Given the description of an element on the screen output the (x, y) to click on. 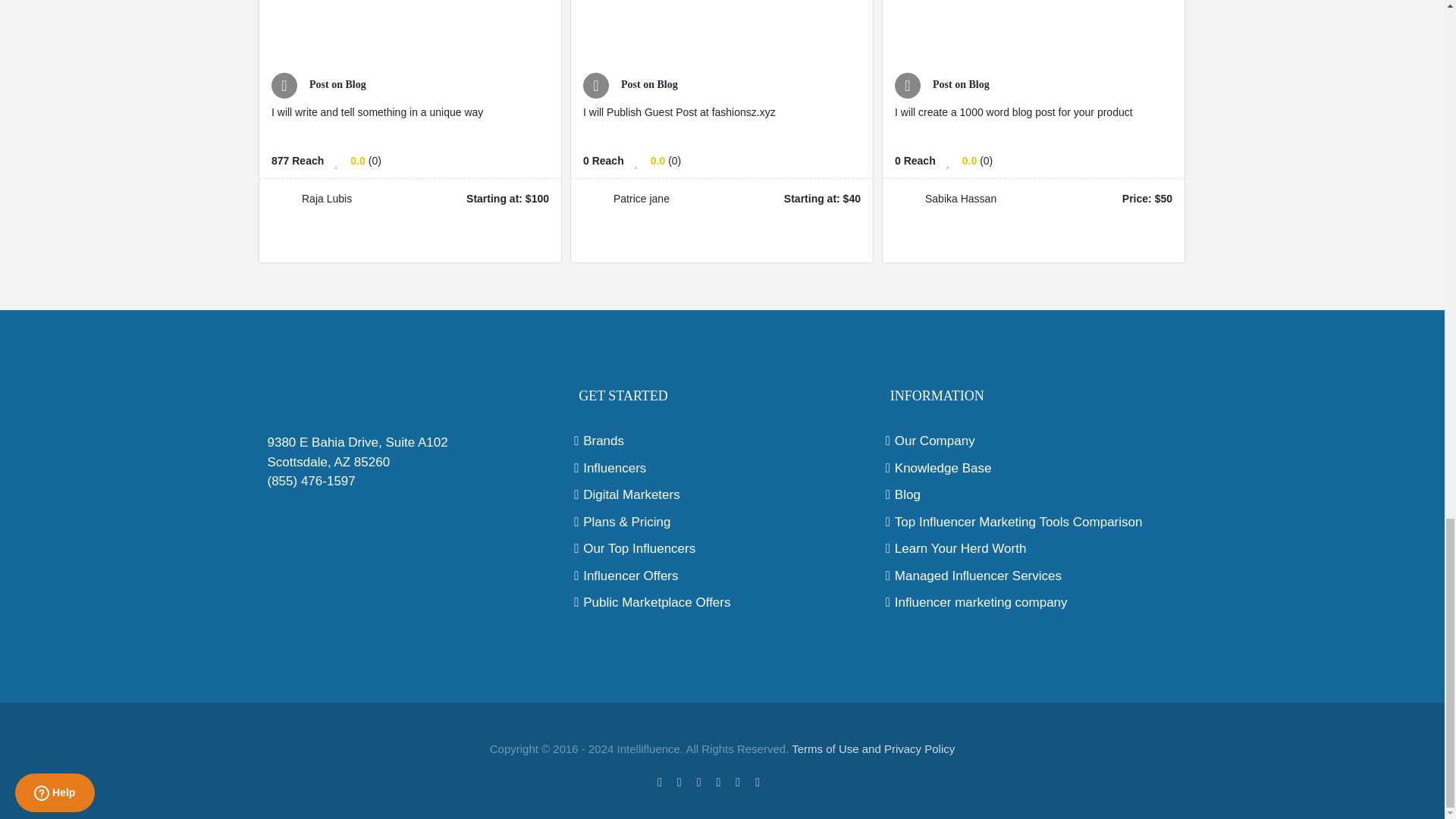
Facebook (660, 782)
Pinterest (718, 782)
Star rating out of 5 (657, 160)
LinkedIn (757, 782)
Knowledge Base (1034, 468)
Brands (722, 441)
Top Influencer Marketing Tools Comparison (1034, 522)
Twitter (679, 782)
TikTok (780, 779)
Blog (1034, 495)
Our Top Influencers (722, 548)
Number of reviews (985, 160)
Influencers (722, 468)
Our Company (1034, 441)
Influencer marketing company (1034, 602)
